Given the description of an element on the screen output the (x, y) to click on. 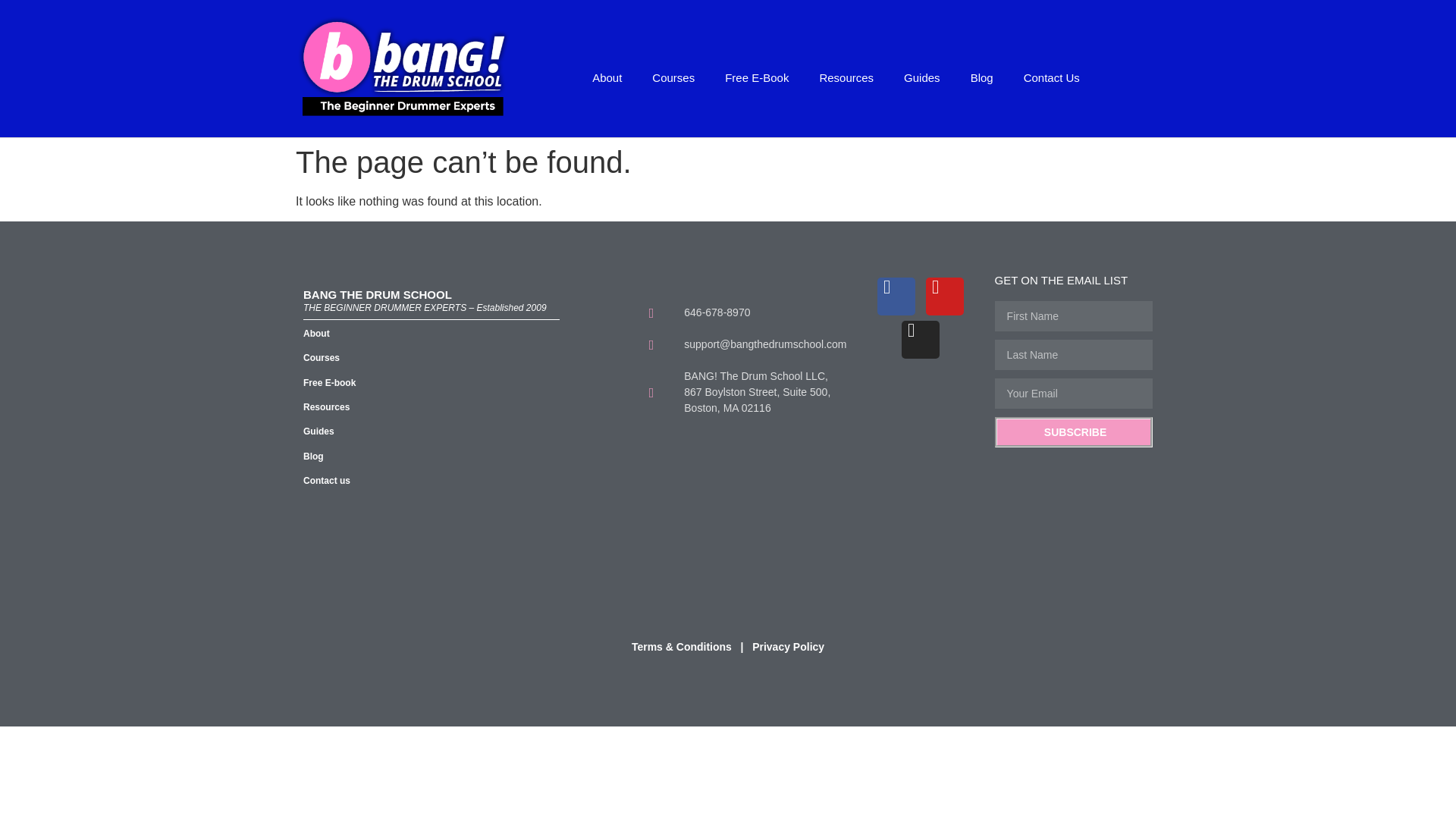
Resources (845, 77)
Free E-Book (756, 77)
Courses (673, 77)
About (606, 77)
